Given the description of an element on the screen output the (x, y) to click on. 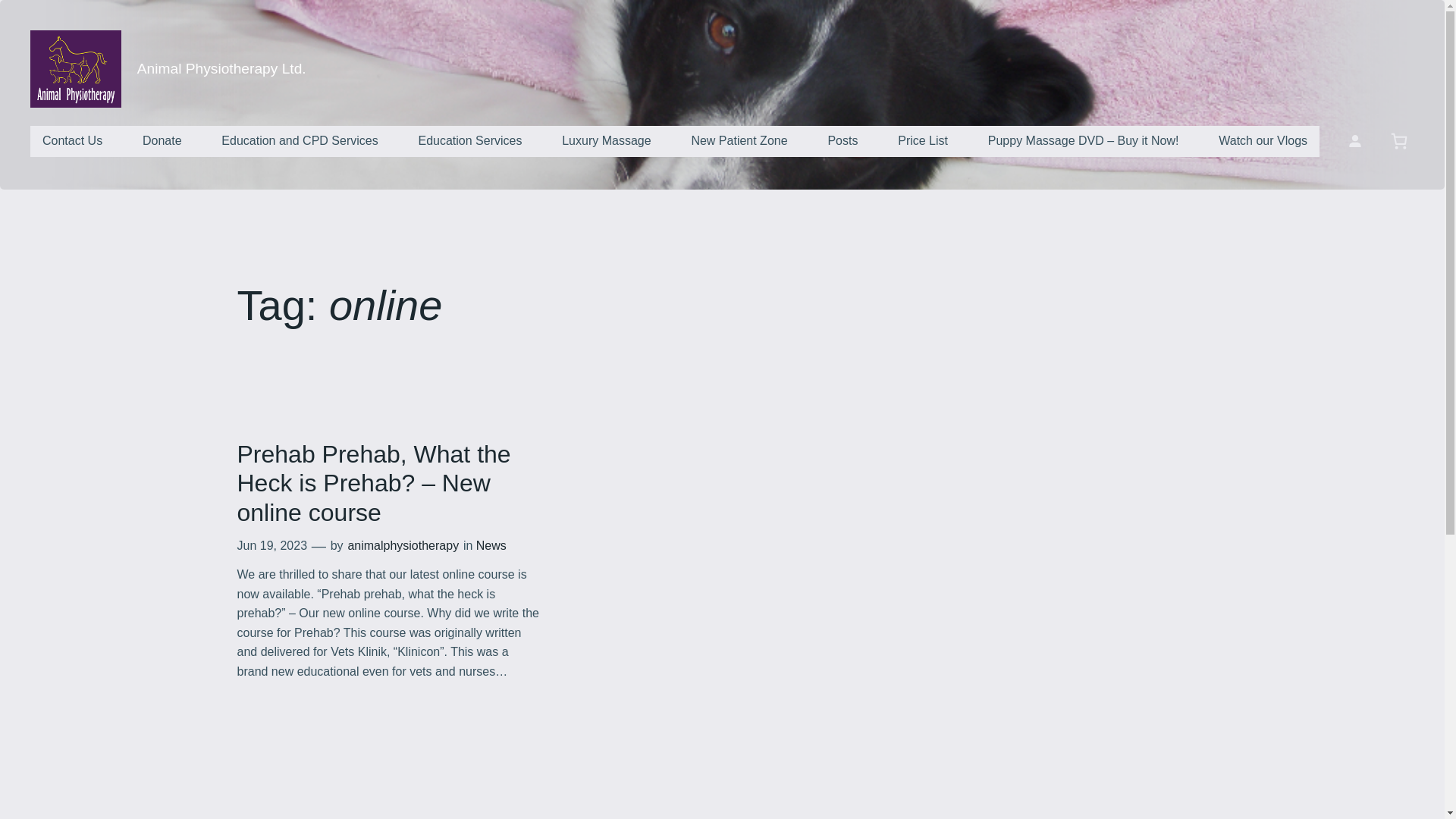
Contact Us (72, 141)
News (491, 545)
Luxury Massage (606, 141)
animalphysiotherapy (402, 545)
Jun 19, 2023 (271, 545)
New Patient Zone (738, 141)
Donate (162, 141)
Watch our Vlogs (1263, 141)
Education Services (470, 141)
Animal Physiotherapy Ltd. (220, 68)
Price List (922, 141)
Education and CPD Services (299, 141)
Posts (842, 141)
